Given the description of an element on the screen output the (x, y) to click on. 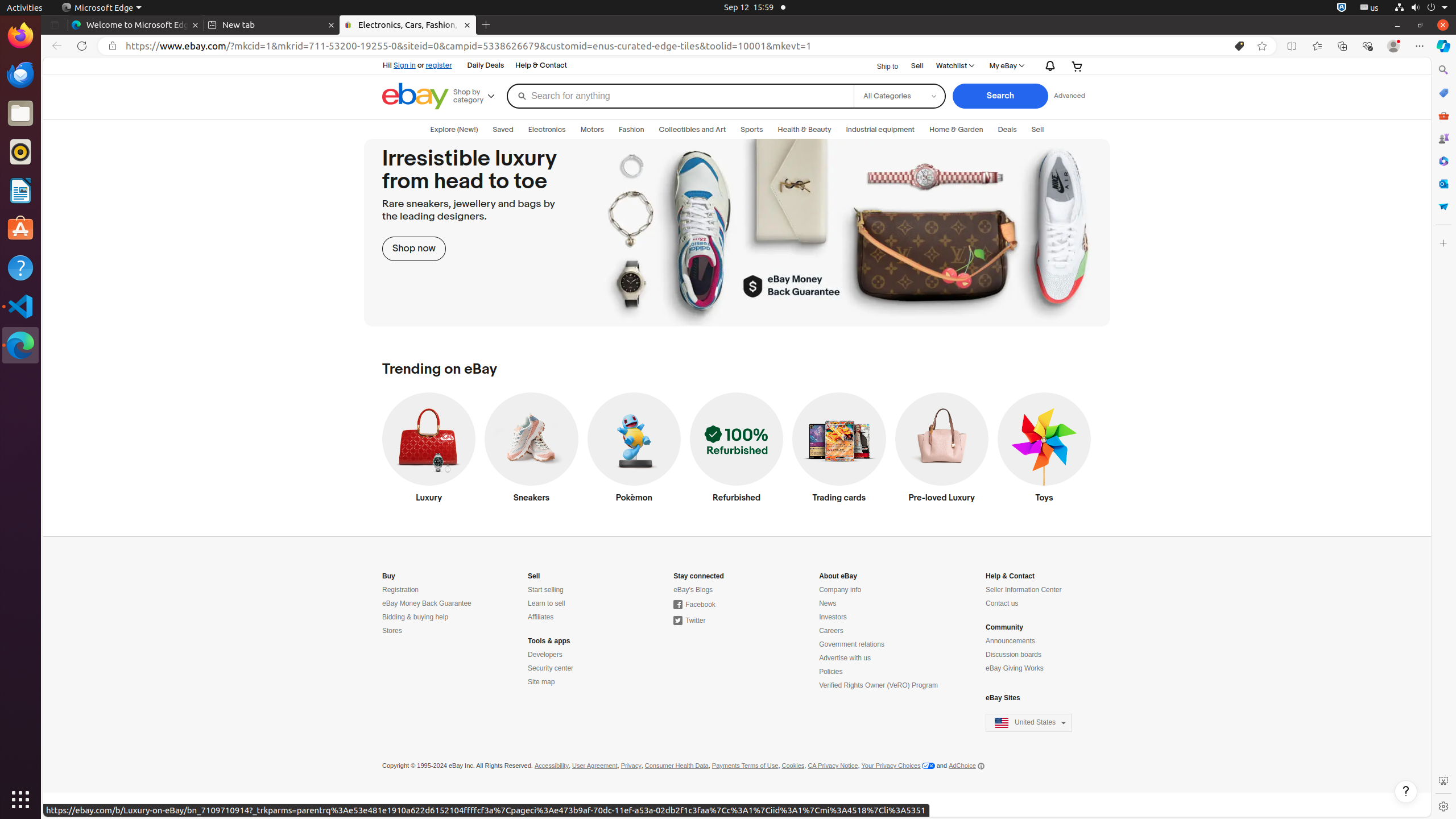
Screenshot Element type: push-button (1443, 780)
Advanced Search Element type: link (1068, 95)
Tools Element type: push-button (1443, 115)
